Given the description of an element on the screen output the (x, y) to click on. 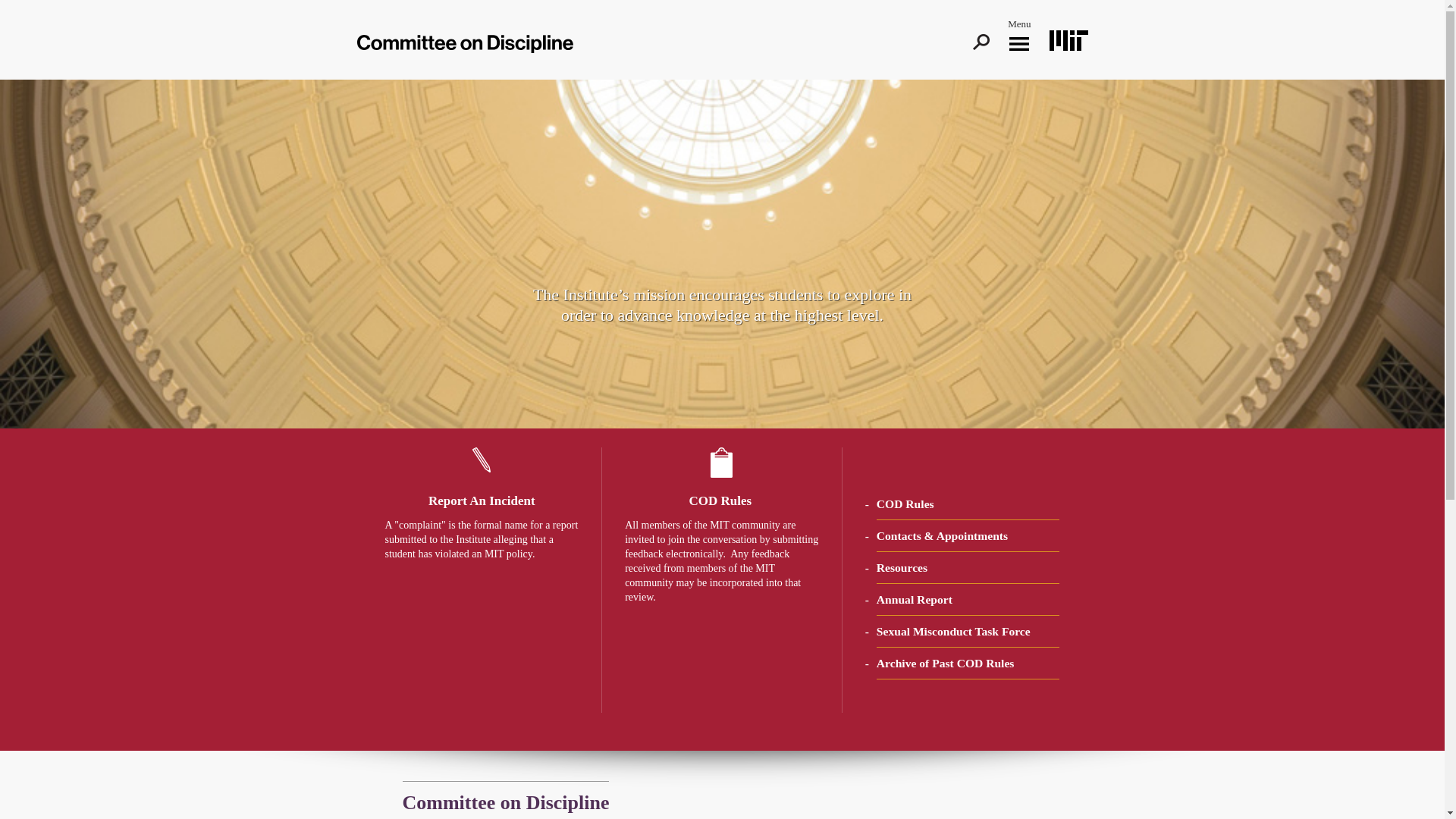
Open Search (981, 42)
Report An Incident (481, 500)
Annual Report (914, 599)
Resources (901, 567)
COD Rules  (721, 500)
COD Rules (905, 503)
